Given the description of an element on the screen output the (x, y) to click on. 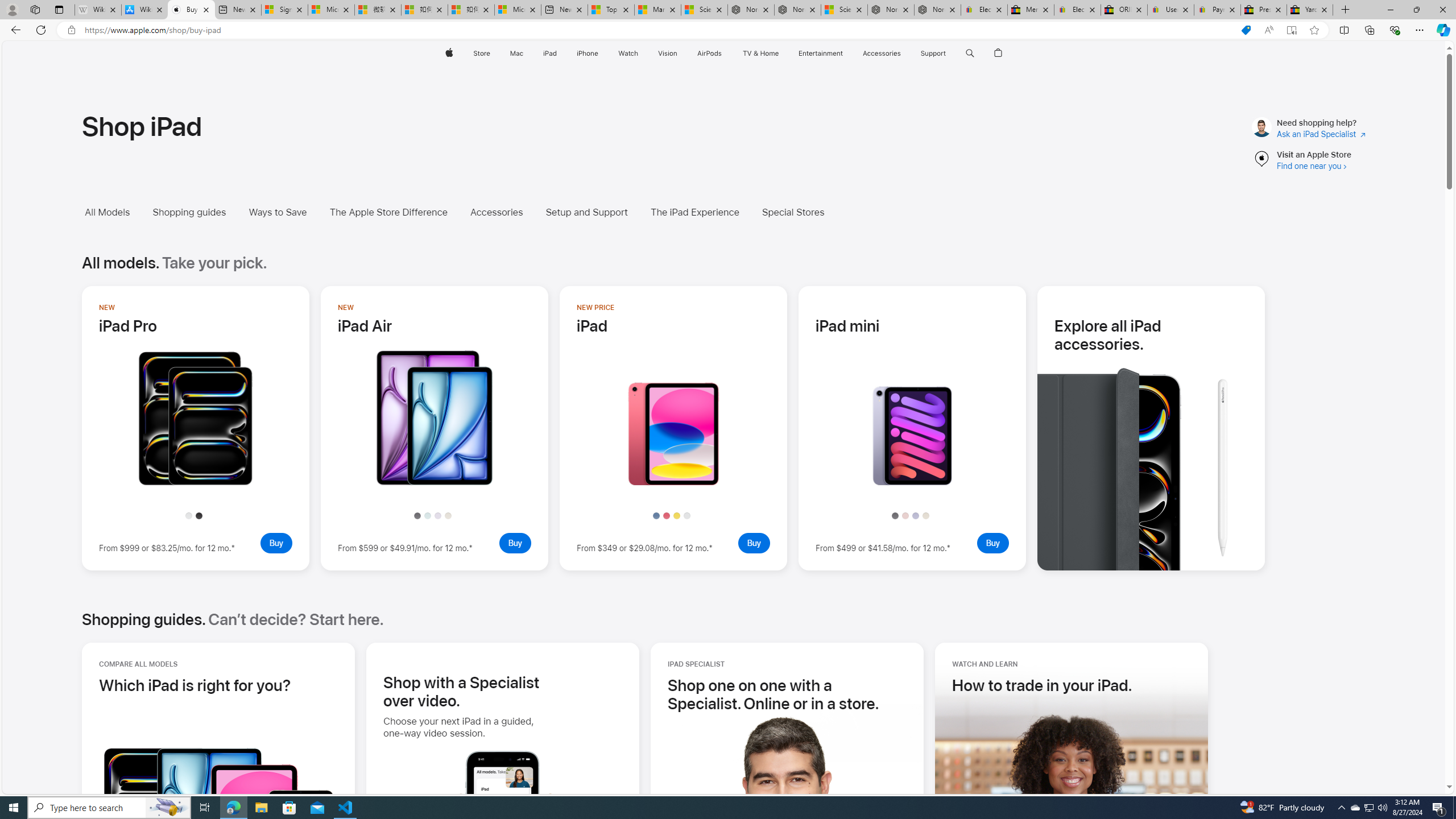
Which iPad is right for you? - (Opens in a new window) (195, 684)
Yellow (675, 515)
TV and Home (759, 53)
Setup and Support (586, 212)
Take a closer look - iPad (673, 482)
Search apple.com (969, 53)
Ways to Save (286, 212)
Mac (516, 53)
Marine life - MSN (656, 9)
Blue (655, 515)
Purple (915, 515)
